Given the description of an element on the screen output the (x, y) to click on. 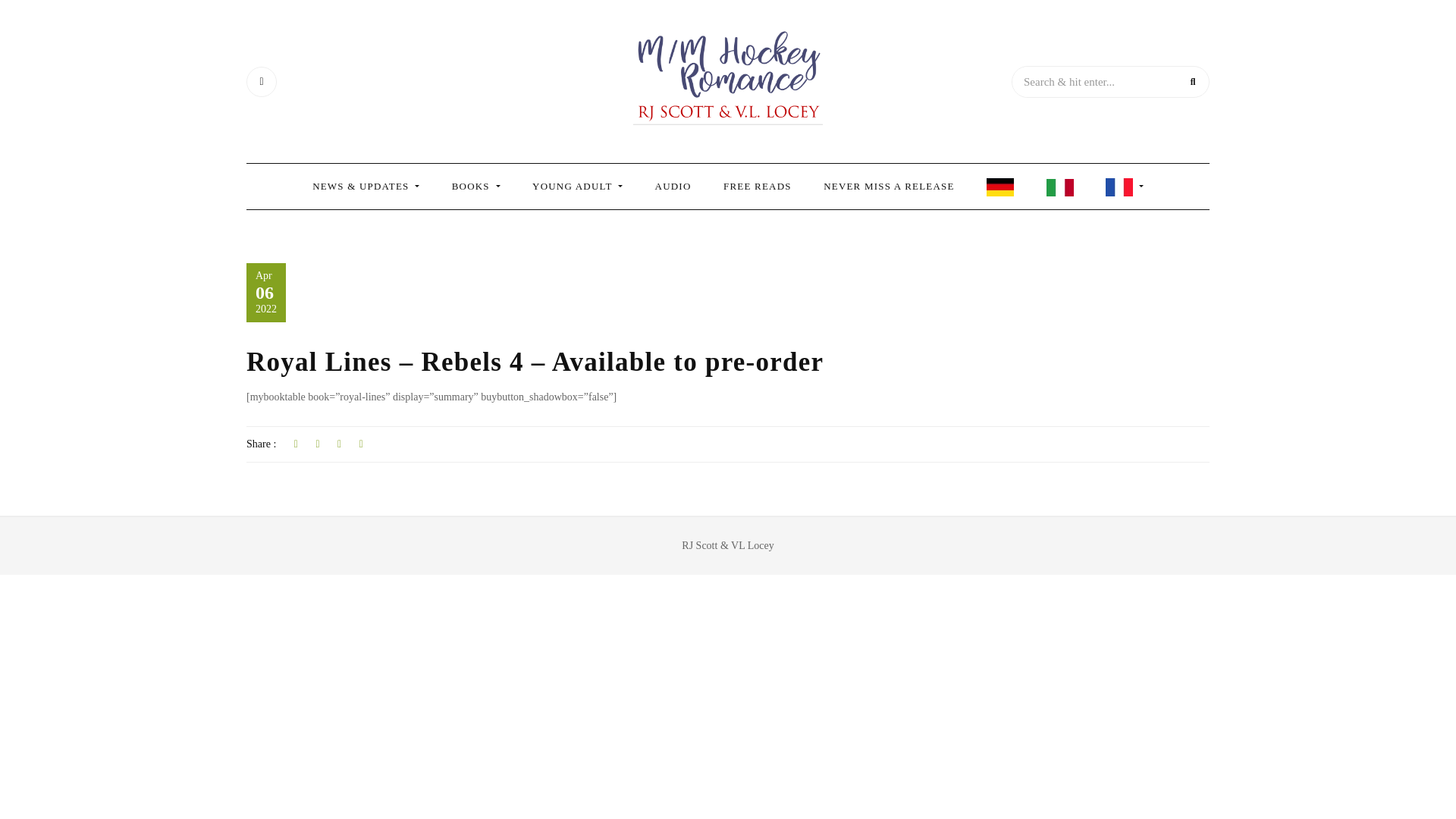
YOUNG ADULT (577, 186)
AUDIO (673, 186)
BOOKS (475, 186)
